Given the description of an element on the screen output the (x, y) to click on. 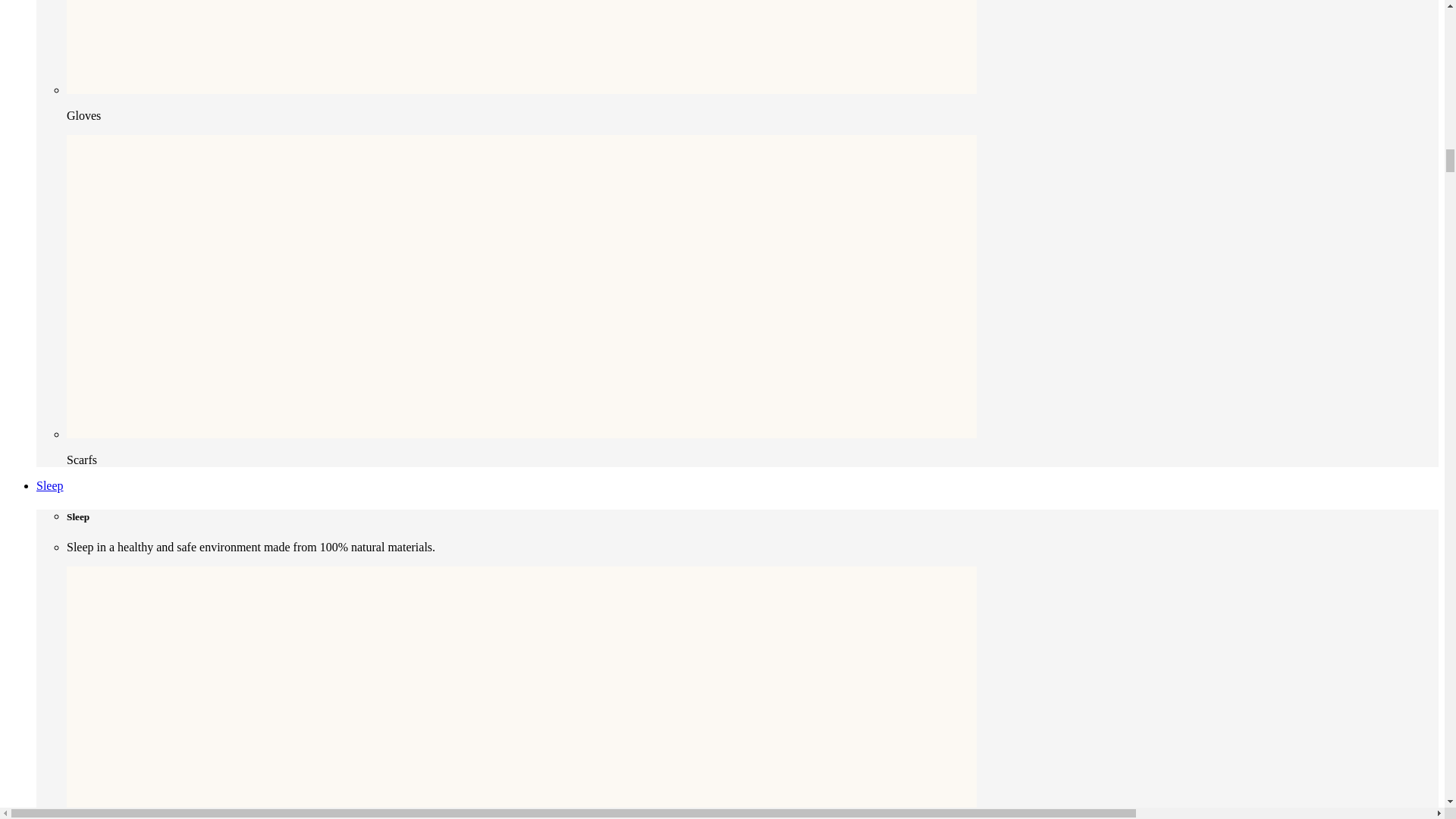
Sleep (50, 485)
